Given the description of an element on the screen output the (x, y) to click on. 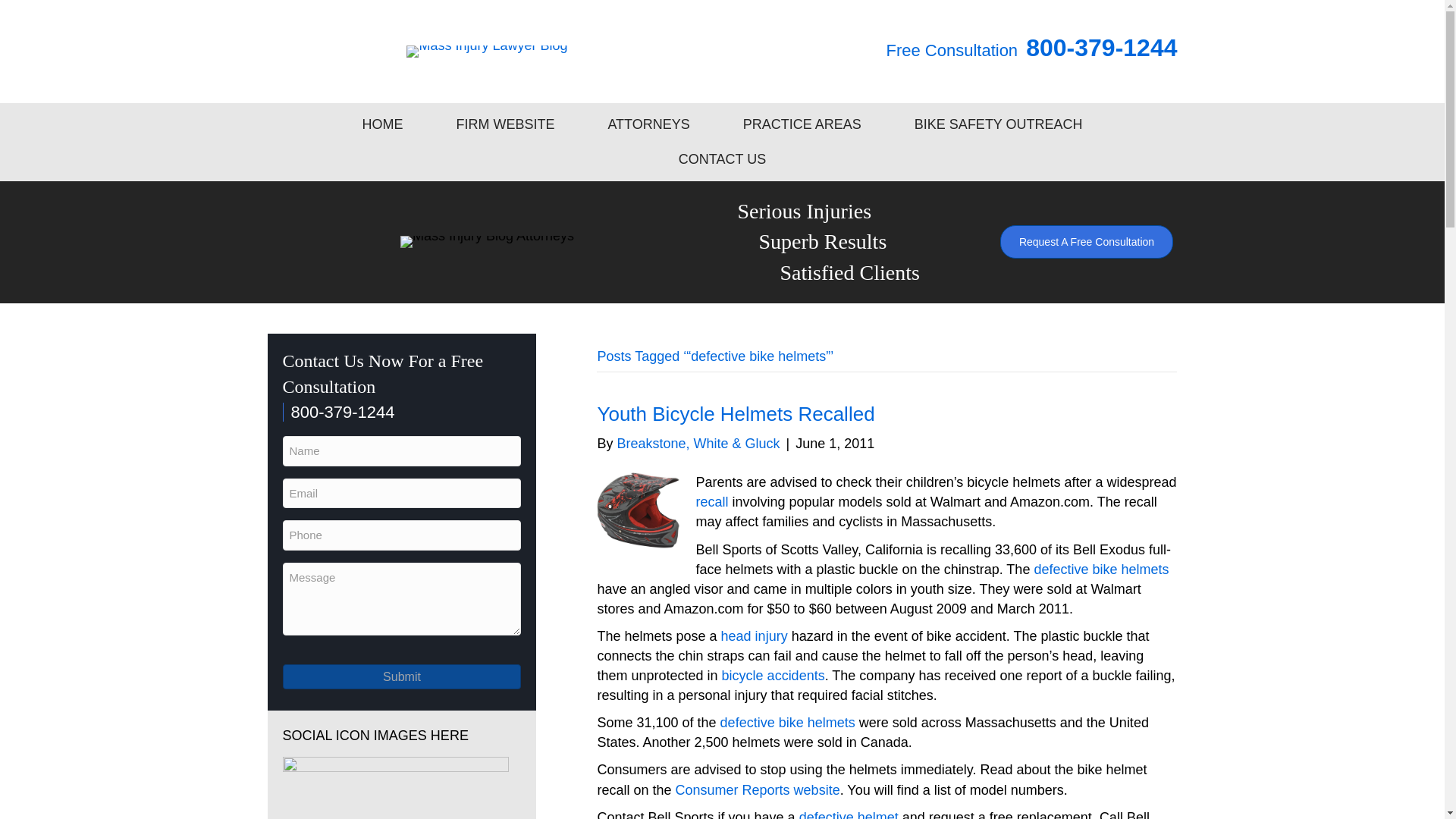
Youth Bicycle Helmets Recalled (735, 413)
Youth Bicycle Helmets Recalled (735, 413)
Mass Injury Lawyer Blog (486, 51)
Mass Injury Blog Attorneys (486, 241)
FIRM WEBSITE (504, 124)
defective bike helmets (1101, 569)
Submit (401, 676)
HOME (381, 124)
800-379-1244 (338, 411)
Submit (401, 676)
